Given the description of an element on the screen output the (x, y) to click on. 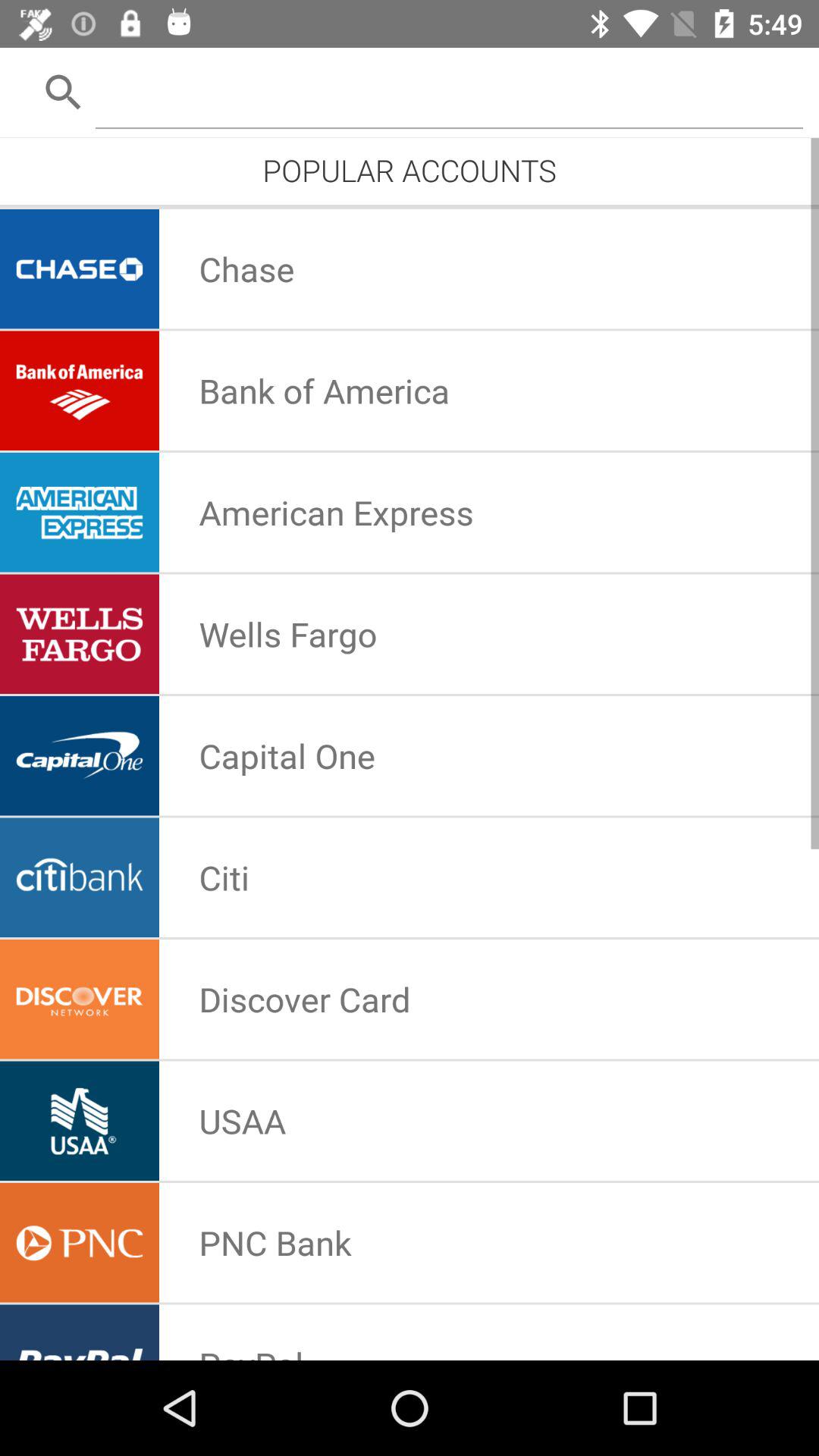
open the icon above bank of america item (246, 268)
